Given the description of an element on the screen output the (x, y) to click on. 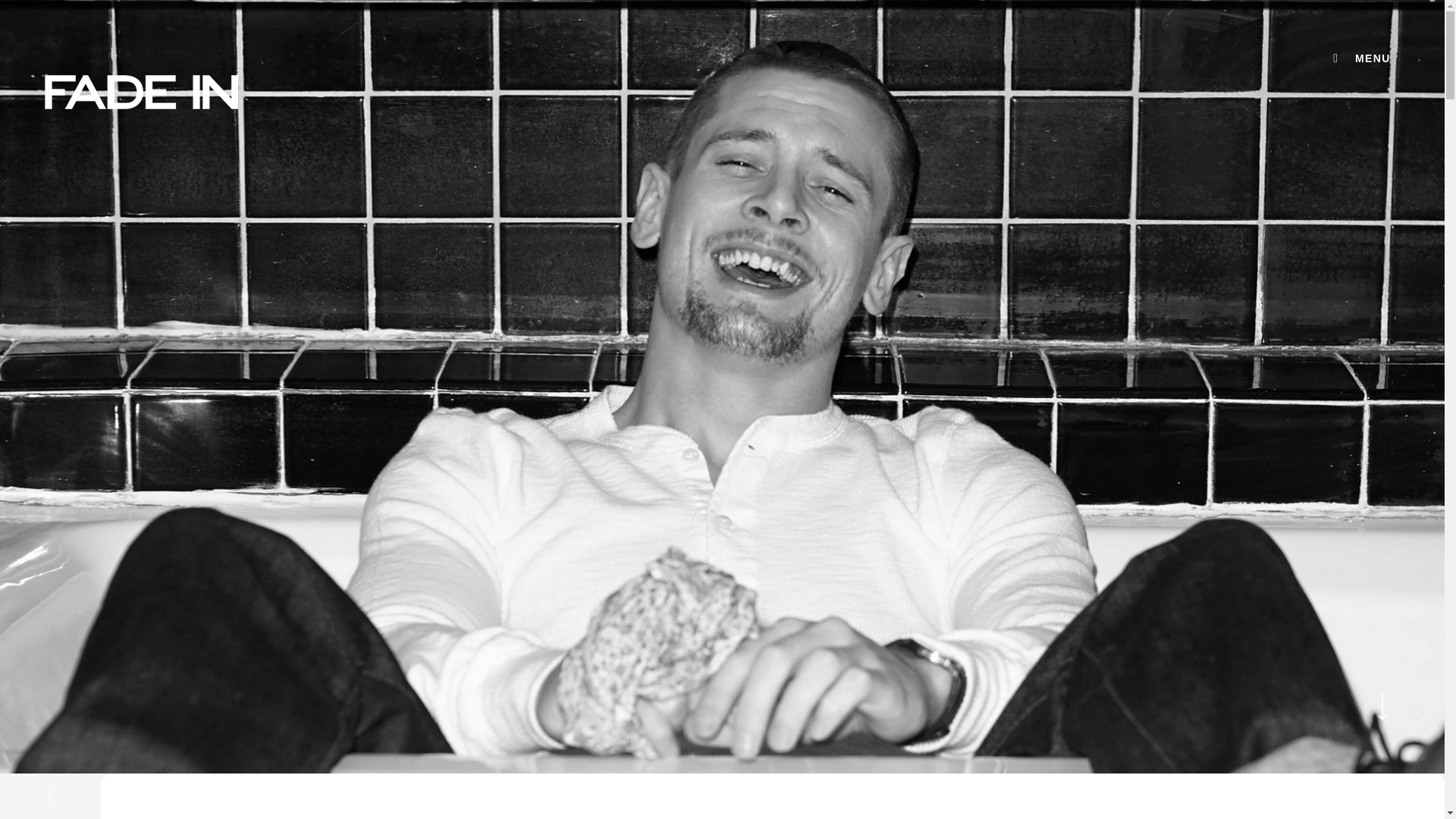
Fadeinonline (141, 92)
MENU (1358, 58)
